Given the description of an element on the screen output the (x, y) to click on. 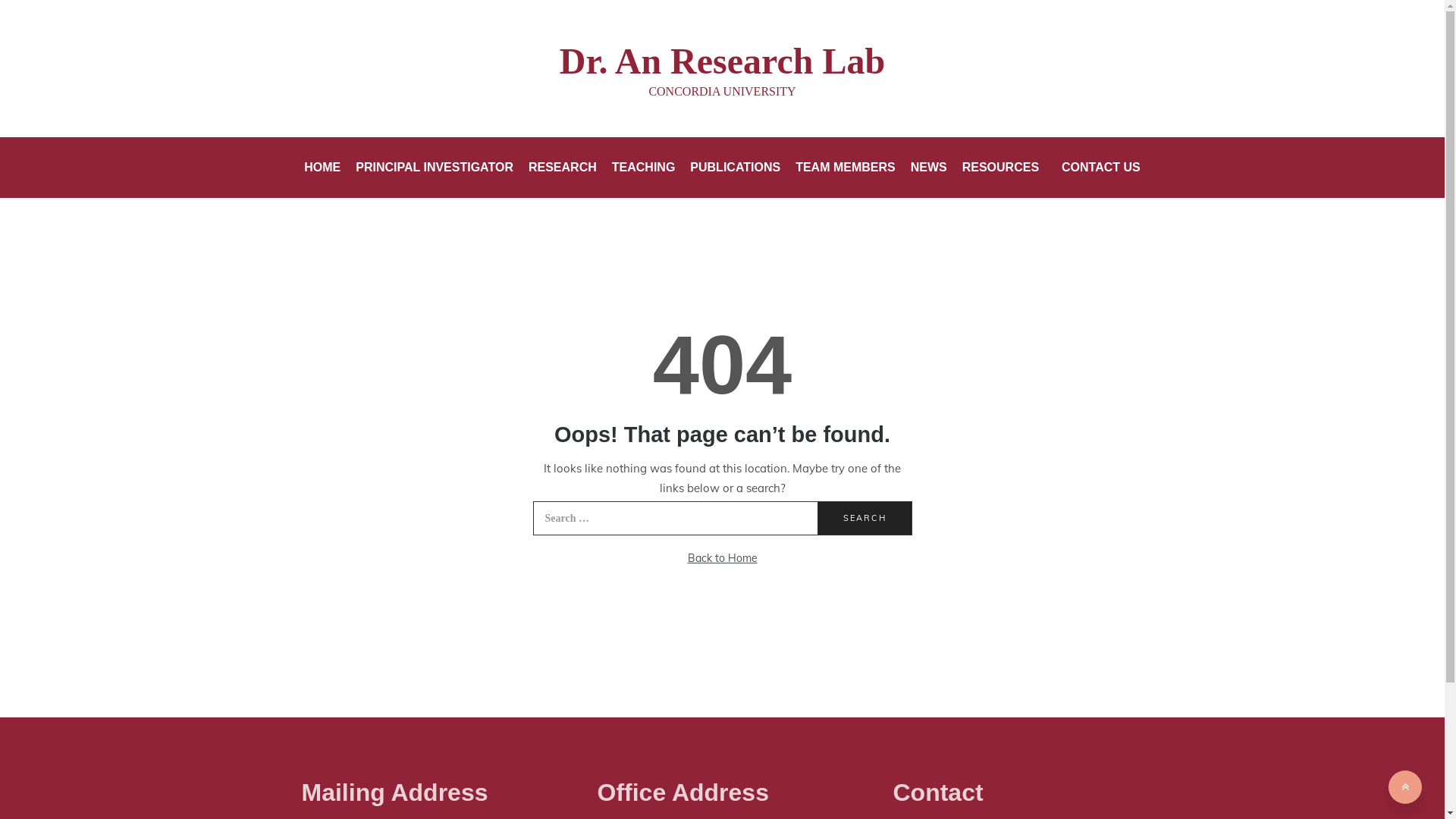
HOME Element type: text (326, 167)
PUBLICATIONS Element type: text (734, 167)
CONTACT US Element type: text (1093, 167)
Go to Top Element type: hover (1404, 786)
Dr. An Research Lab Element type: text (721, 60)
Search Element type: text (864, 518)
RESEARCH Element type: text (562, 167)
PRINCIPAL INVESTIGATOR Element type: text (434, 167)
TEACHING Element type: text (643, 167)
RESOURCES Element type: text (1000, 167)
Back to Home Element type: text (721, 557)
NEWS Element type: text (928, 167)
TEAM MEMBERS Element type: text (845, 167)
